Given the description of an element on the screen output the (x, y) to click on. 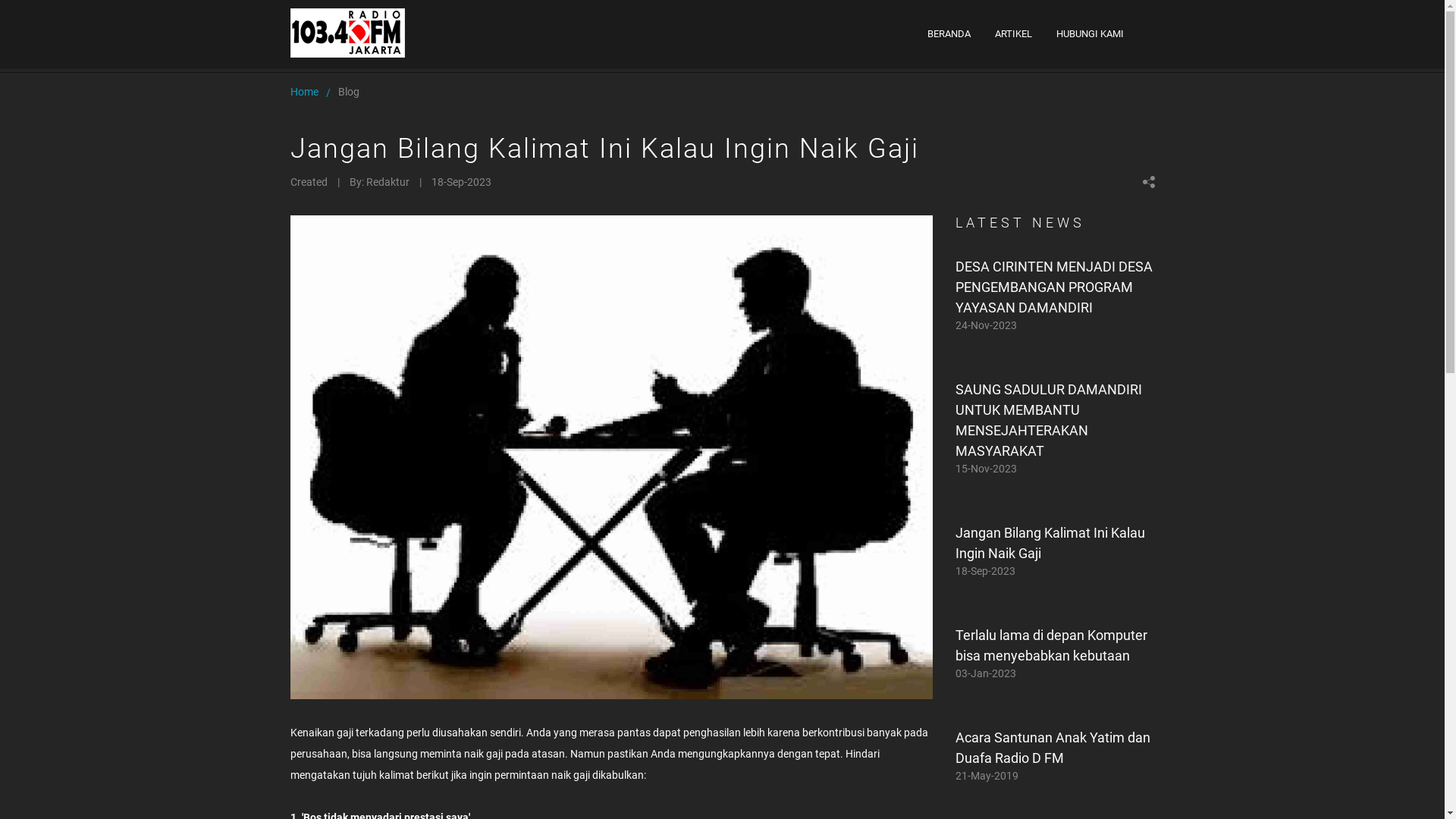
Acara Santunan Anak Yatim dan Duafa Radio D FM
21-May-2019 Element type: text (1054, 755)
Home Element type: text (303, 91)
HUBUNGI KAMI Element type: text (1090, 34)
ARTIKEL Element type: text (1012, 34)
BERANDA Element type: text (949, 34)
Jangan Bilang Kalimat Ini Kalau Ingin Naik Gaji
18-Sep-2023 Element type: text (1054, 550)
